Given the description of an element on the screen output the (x, y) to click on. 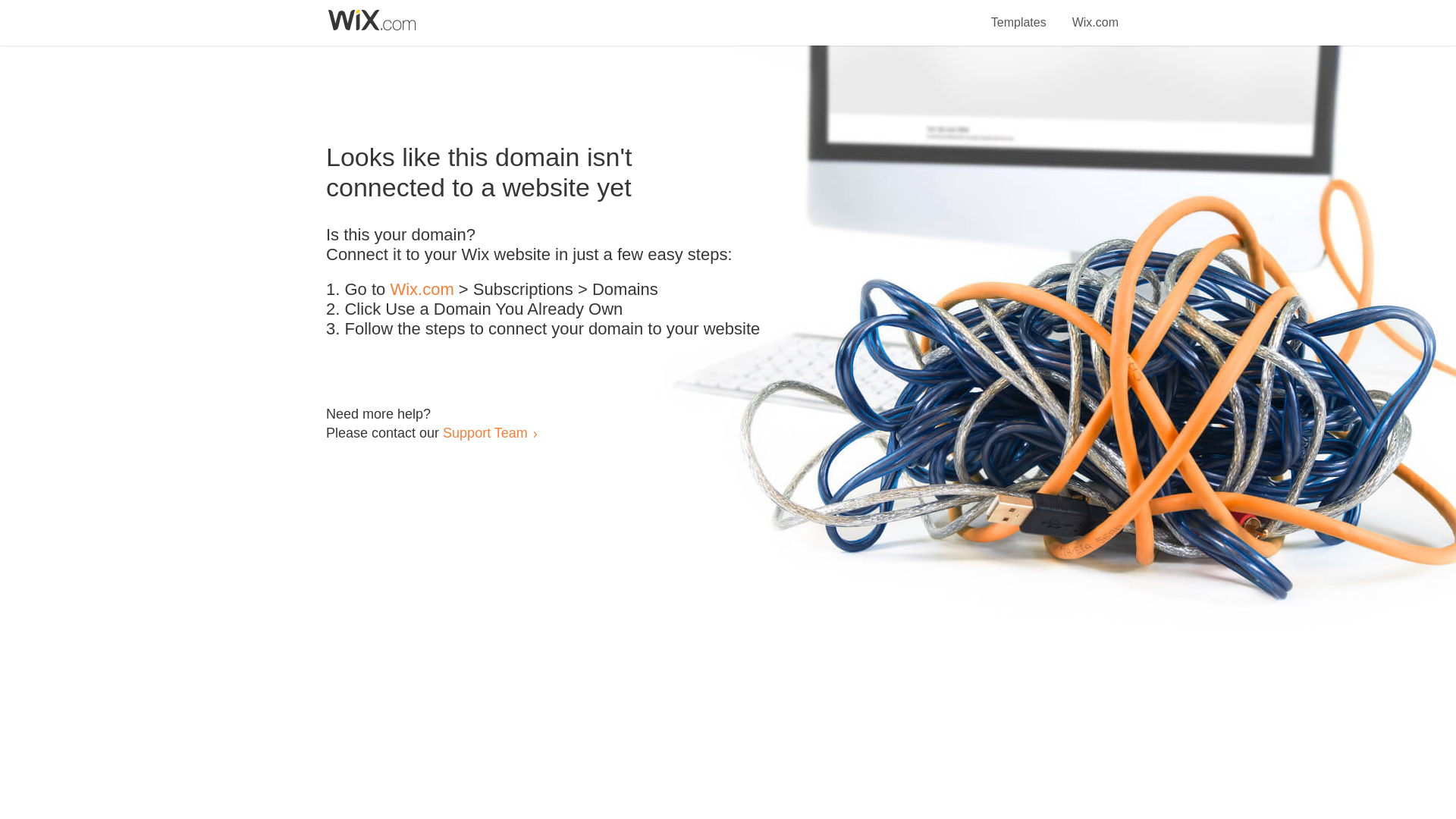
Support Team (484, 432)
Wix.com (1095, 14)
Wix.com (421, 289)
Templates (1018, 14)
